Given the description of an element on the screen output the (x, y) to click on. 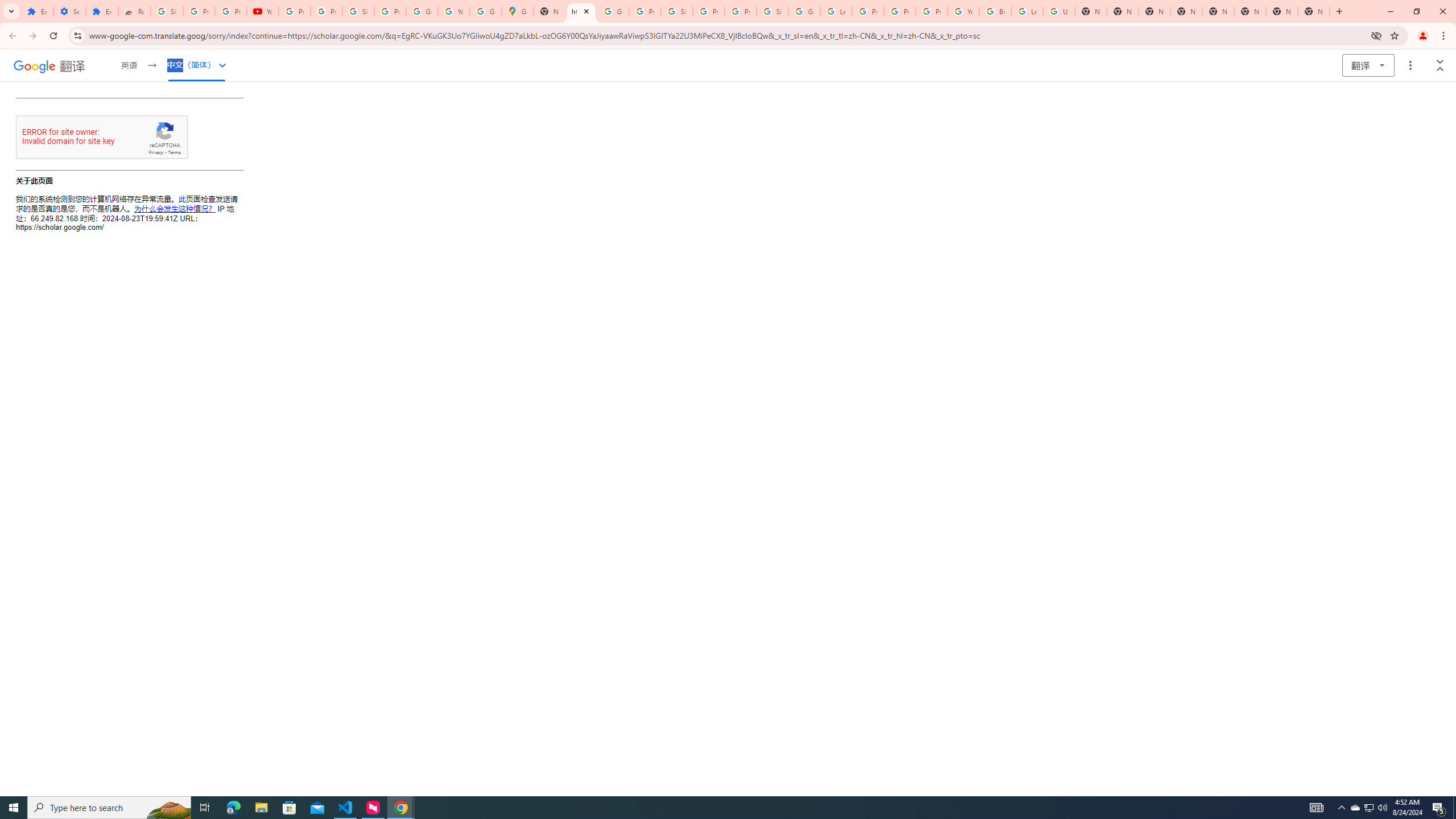
Google Account (421, 11)
YouTube (262, 11)
Extensions (101, 11)
Privacy Help Center - Policies Help (899, 11)
New Tab (1154, 11)
Google Maps (517, 11)
